Given the description of an element on the screen output the (x, y) to click on. 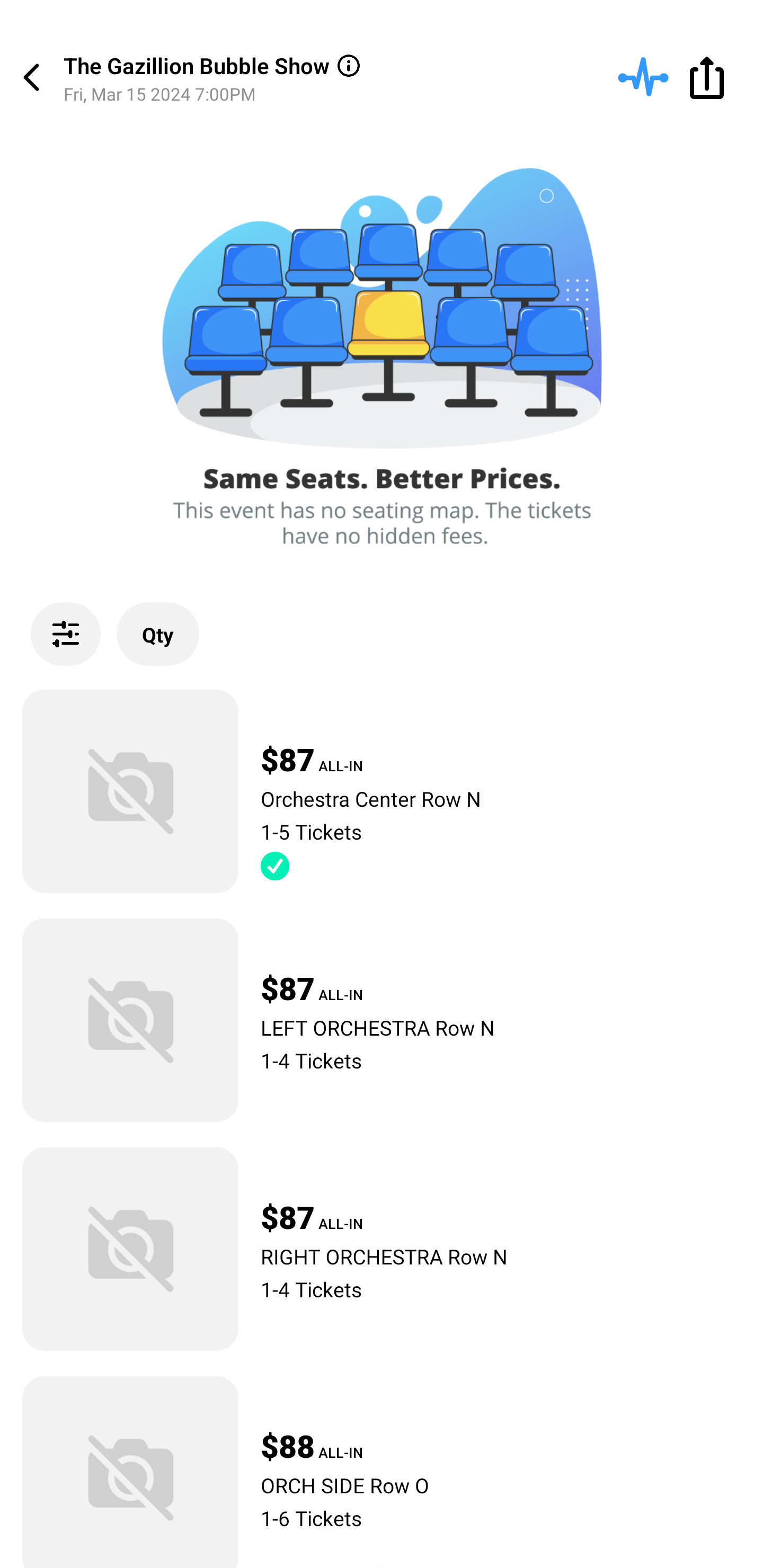
Qty (157, 634)
